Given the description of an element on the screen output the (x, y) to click on. 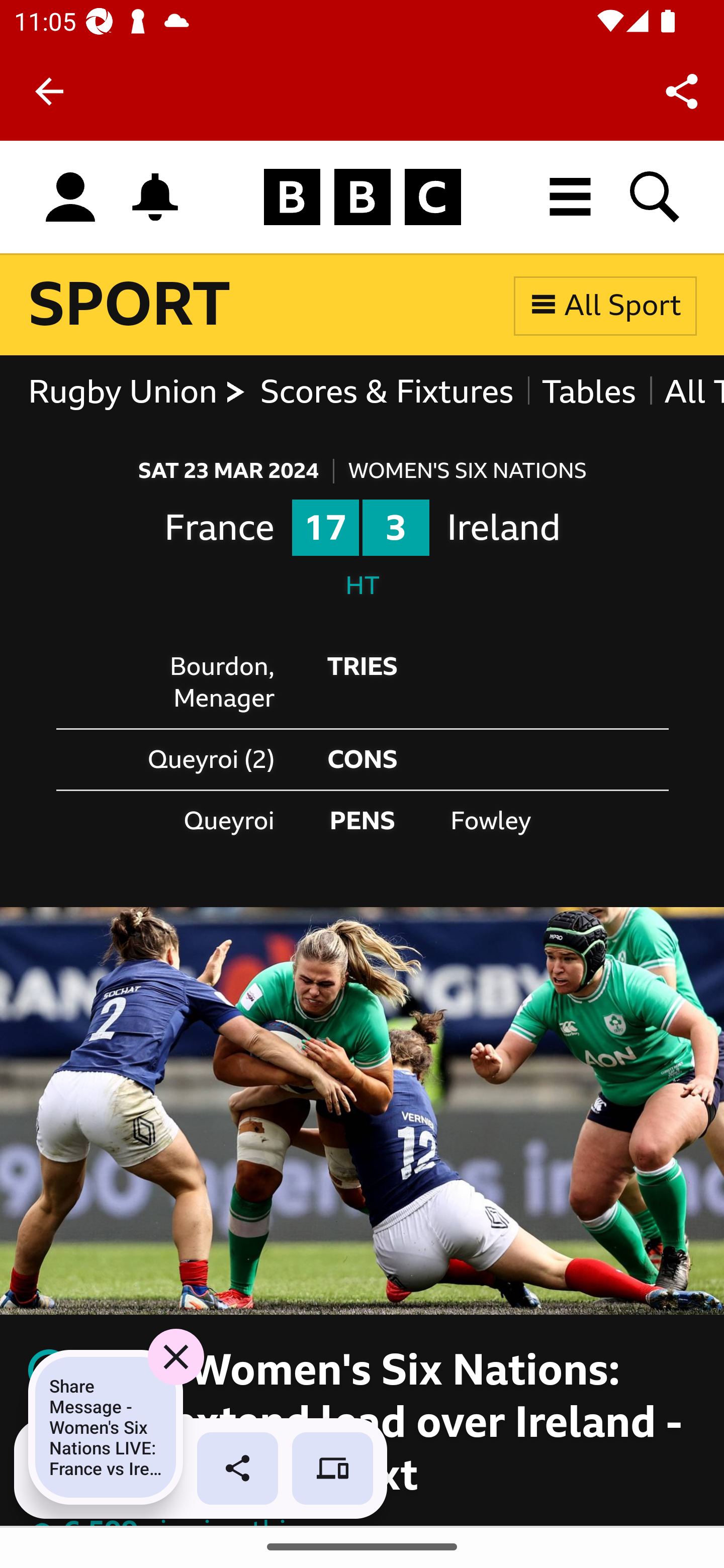
Back (49, 91)
Share (681, 90)
Notifications (155, 197)
All BBC destinations menu (570, 197)
Search BBC (655, 197)
Sign in (70, 198)
Homepage (361, 198)
BBC SPORT BBC SPORT (130, 304)
 All Sport (604, 304)
Rugby Union  (137, 392)
Scores & Fixtures (385, 392)
Tables (587, 392)
